Given the description of an element on the screen output the (x, y) to click on. 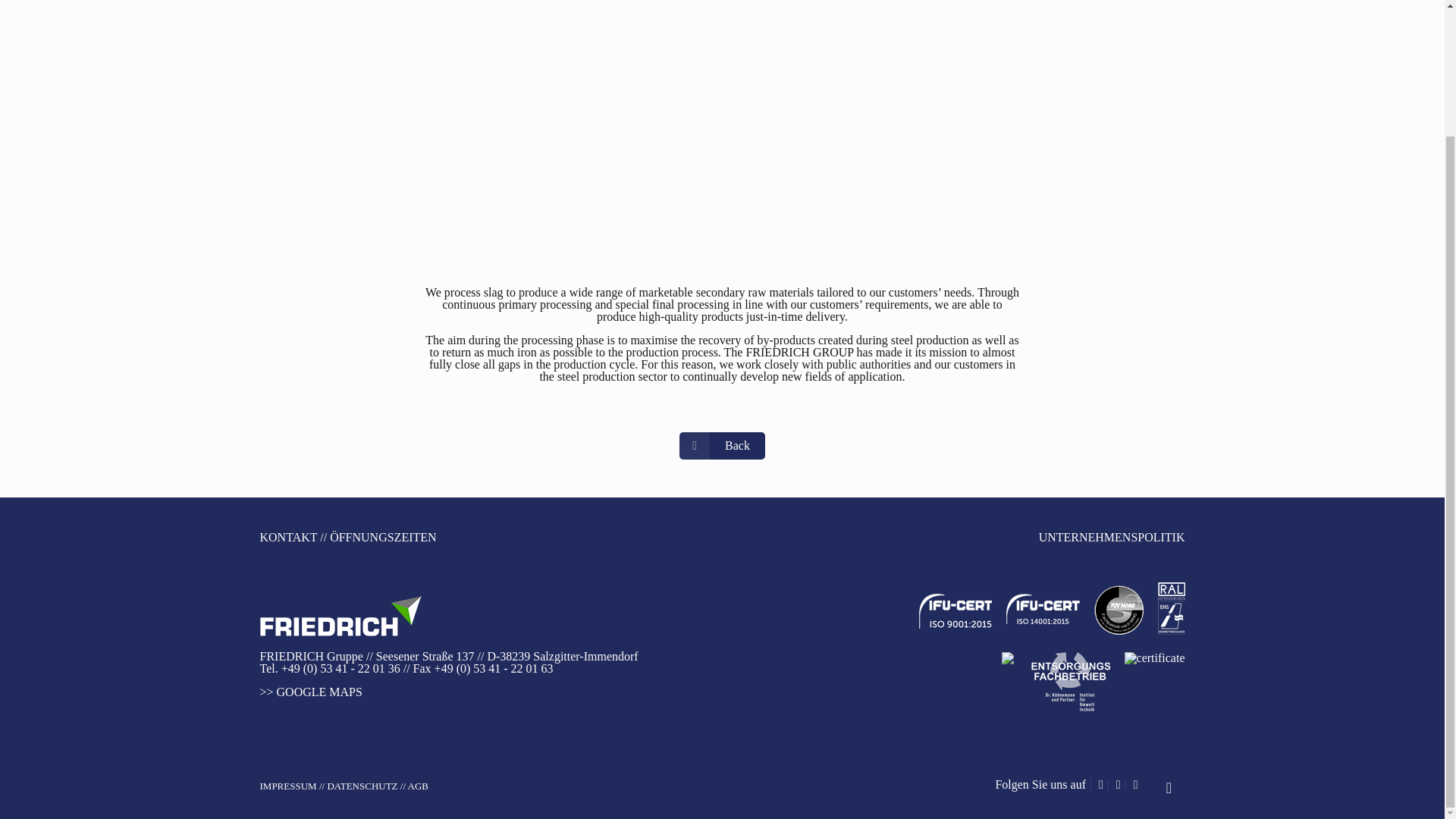
Folgen Sie uns auf (1040, 784)
Back (722, 445)
GOOGLE MAPS (319, 691)
UNTERNEHMENSPOLITIK (1112, 537)
AGB (417, 785)
KONTAKT (288, 536)
DATENSCHUTZ (361, 785)
IMPRESSUM (287, 785)
